Given the description of an element on the screen output the (x, y) to click on. 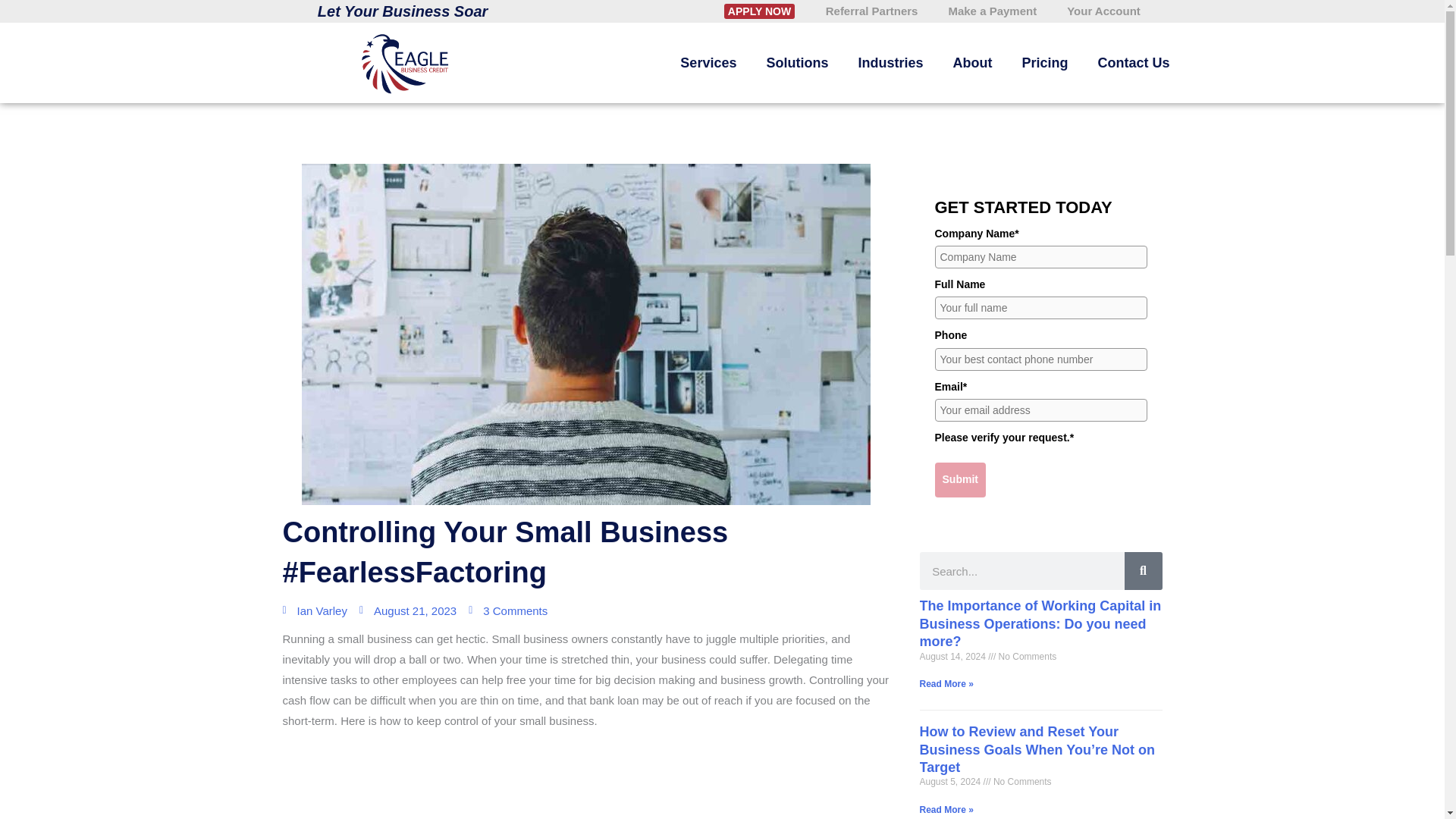
Referral Partners (871, 11)
Industries (890, 63)
APPLY NOW (758, 10)
Services (707, 63)
About (971, 63)
Your Account (1103, 11)
Solutions (796, 63)
Make a Payment (992, 11)
Regain Control of Your Small Business (585, 786)
